Given the description of an element on the screen output the (x, y) to click on. 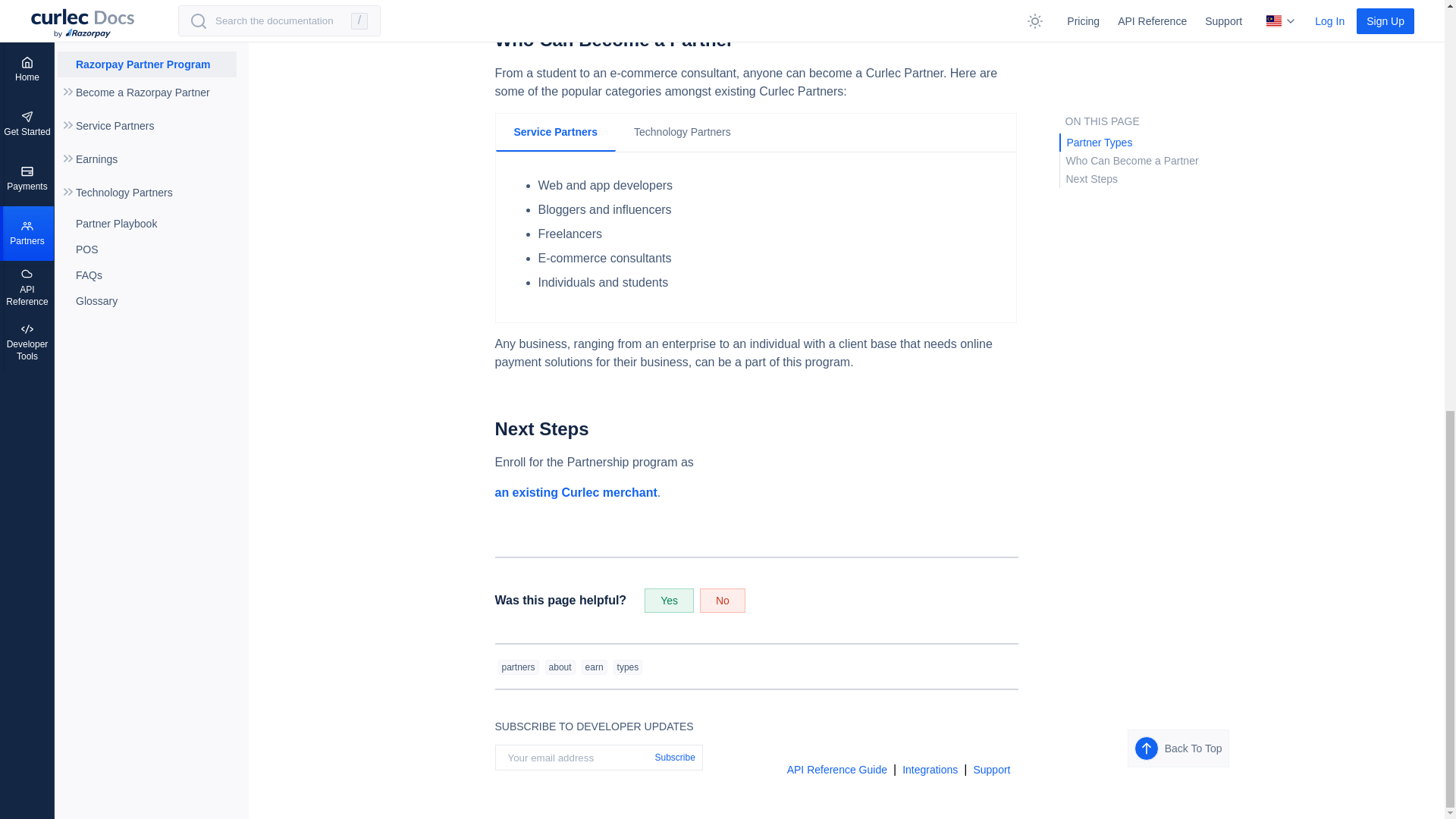
Support (994, 769)
Service Partners (555, 132)
Integrations (932, 769)
an existing Curlec merchant (575, 492)
Yes (669, 600)
Technology Partners (682, 131)
Subscribe (674, 757)
Service Partners (755, 233)
Who Can Become a Partner (755, 40)
No (722, 600)
